Given the description of an element on the screen output the (x, y) to click on. 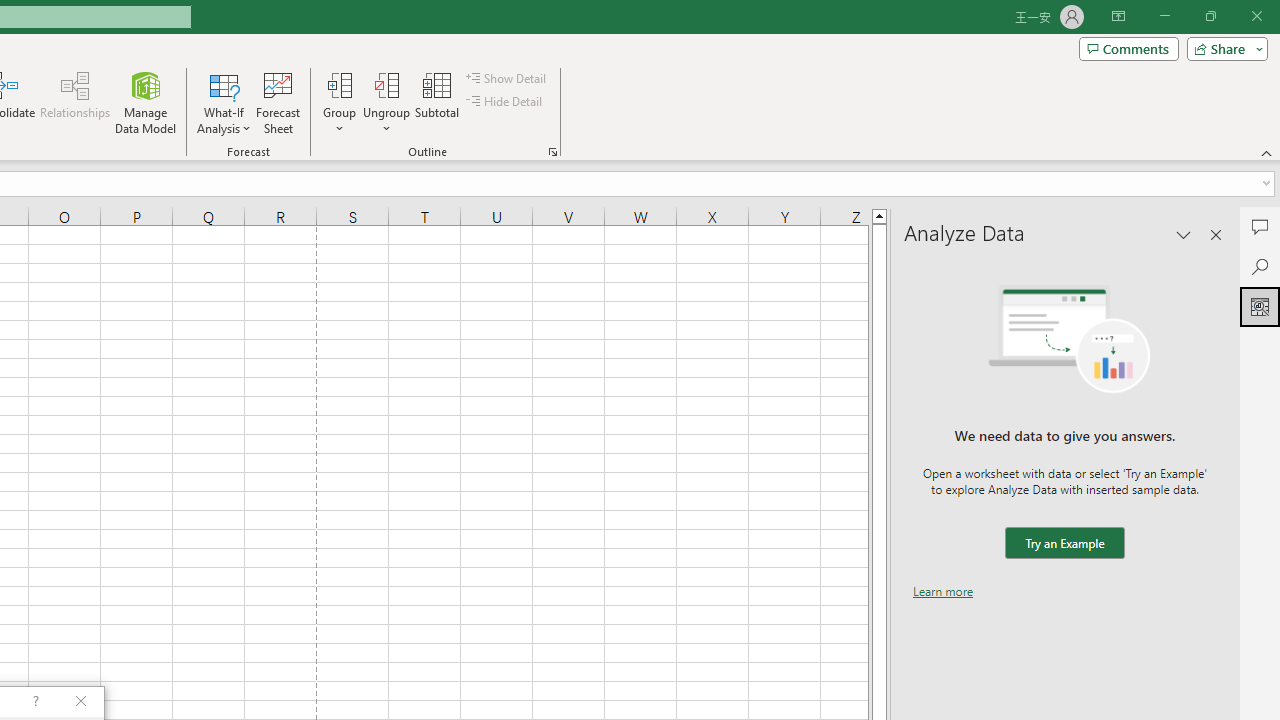
Comments (1260, 226)
We need data to give you answers. Try an Example (1064, 543)
Ungroup... (386, 84)
Manage Data Model (145, 102)
Forecast Sheet (278, 102)
Group and Outline Settings (552, 151)
Line up (879, 215)
Show Detail (507, 78)
Subtotal (437, 102)
Hide Detail (505, 101)
Group... (339, 102)
Minimize (1164, 16)
Comments (1128, 48)
